Given the description of an element on the screen output the (x, y) to click on. 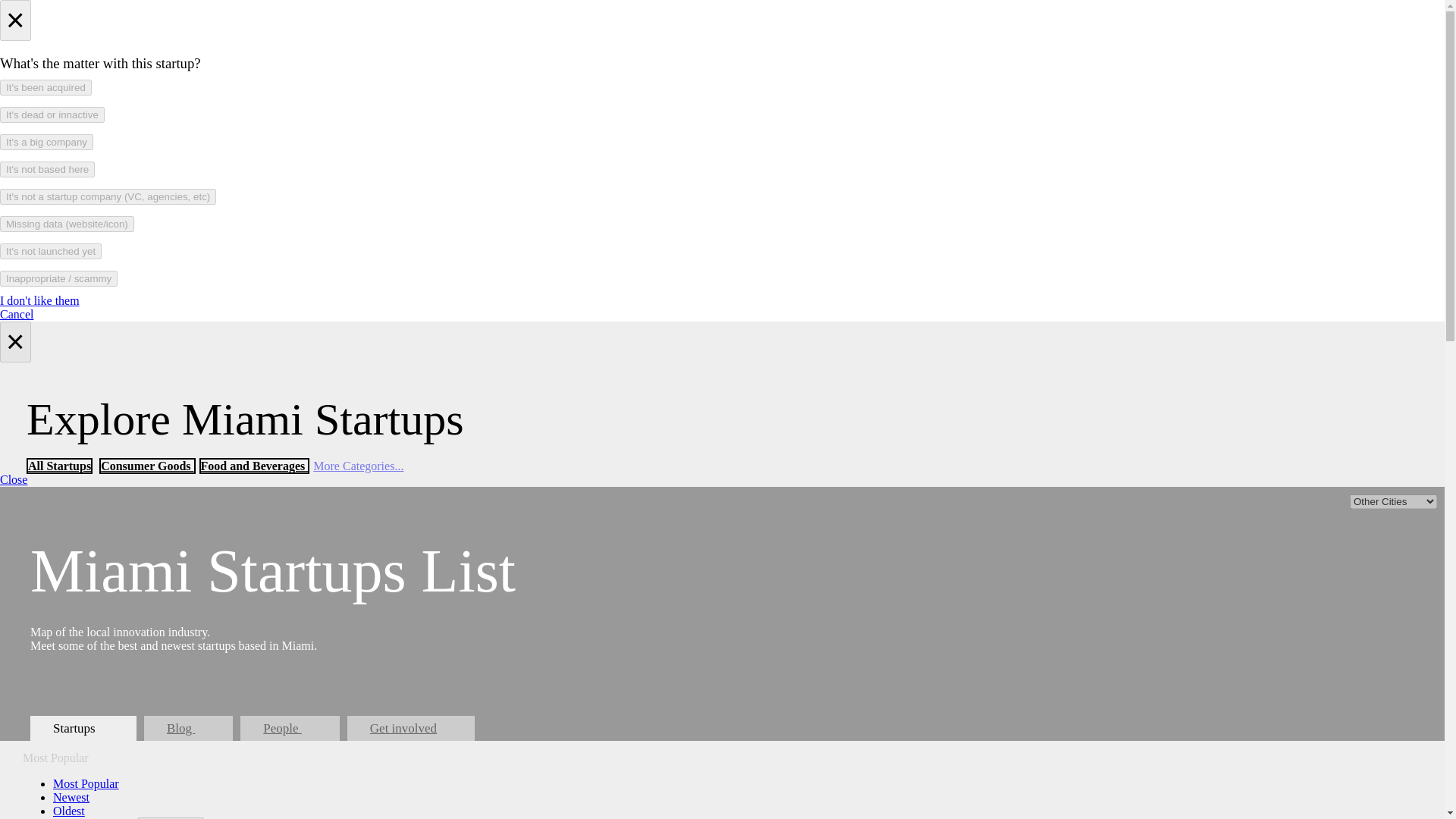
It's been acquired (45, 87)
It's not launched yet (50, 251)
Consumer Goods (147, 465)
Cancel (16, 314)
More Categories... (358, 465)
Food and Beverages (254, 465)
Close (13, 479)
It's dead or innactive (52, 114)
It's a big company (46, 141)
It's not based here (47, 169)
